Given the description of an element on the screen output the (x, y) to click on. 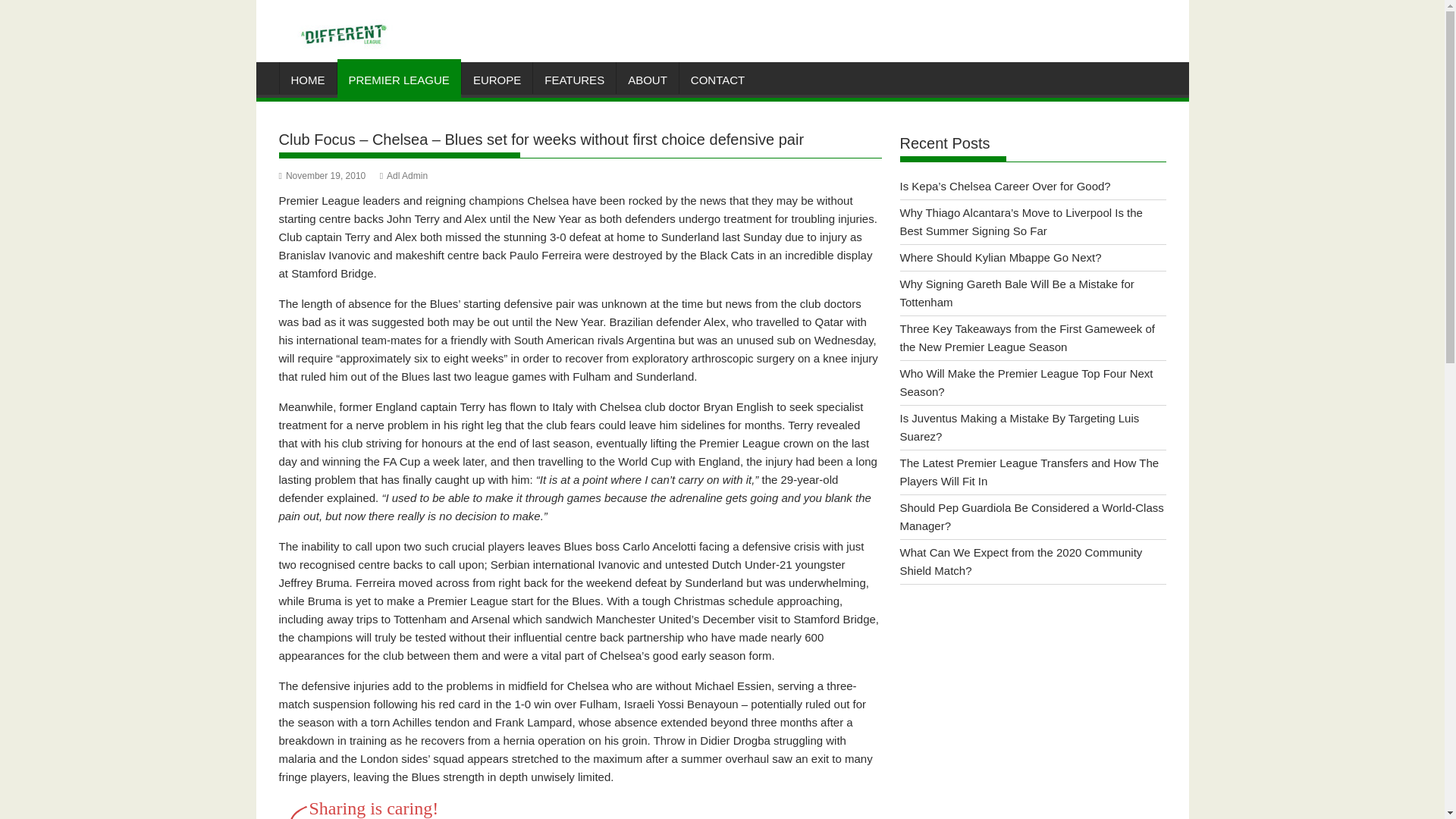
EUROPE (496, 80)
Adl Admin (404, 175)
ABOUT (646, 80)
FEATURES (573, 80)
HOME (307, 80)
November 19, 2010 (322, 175)
PREMIER LEAGUE (398, 80)
CONTACT (717, 80)
